Given the description of an element on the screen output the (x, y) to click on. 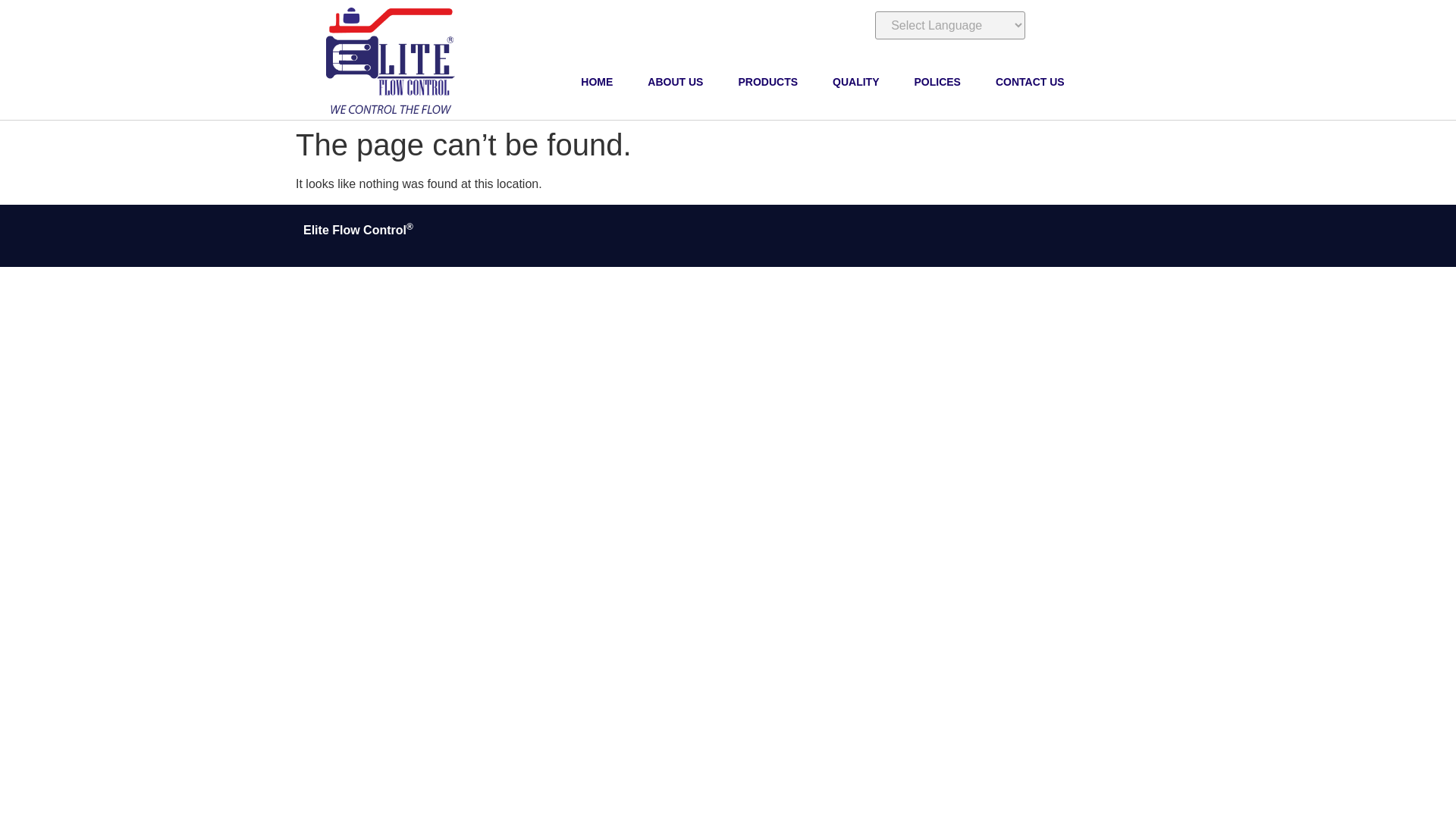
PRODUCTS (767, 81)
POLICES (936, 81)
CONTACT US (1029, 81)
ABOUT US (674, 81)
HOME (596, 81)
QUALITY (854, 81)
